Given the description of an element on the screen output the (x, y) to click on. 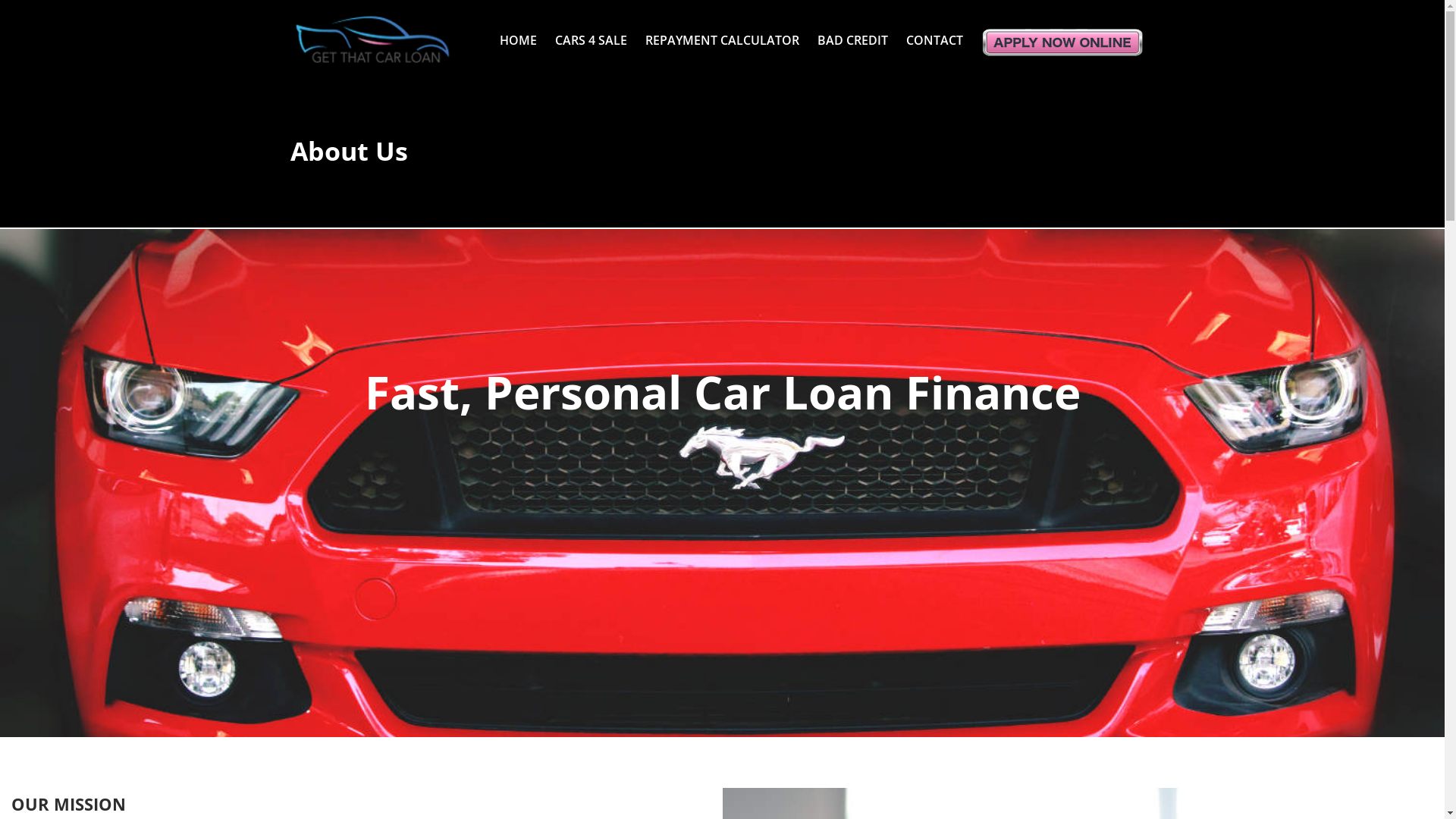
REPAYMENT CALCULATOR Element type: text (721, 33)
CONTACT Element type: text (933, 33)
CARS 4 SALE Element type: text (591, 33)
HOME Element type: text (517, 33)
BAD CREDIT Element type: text (852, 33)
